Given the description of an element on the screen output the (x, y) to click on. 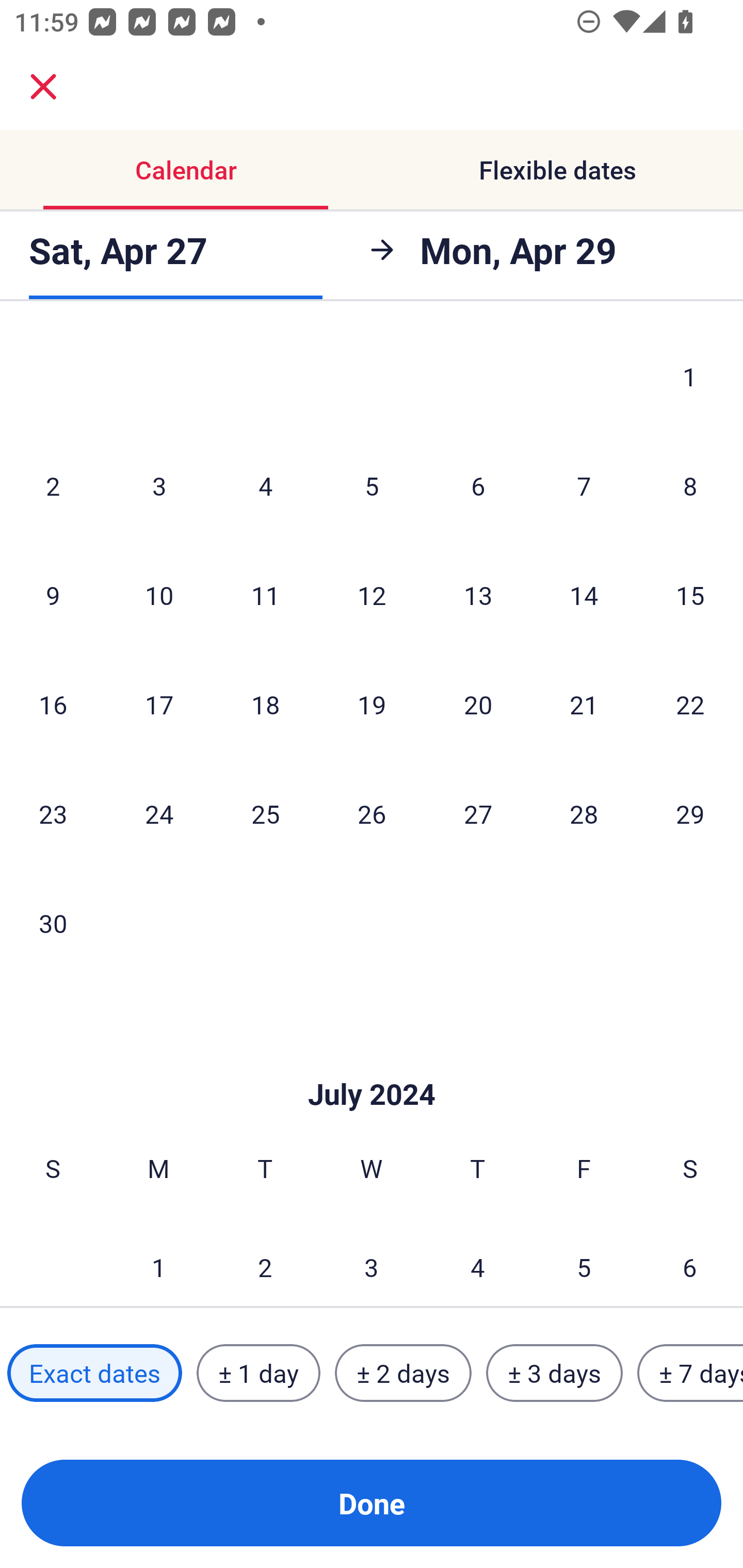
close. (43, 86)
Flexible dates (557, 170)
1 Saturday, June 1, 2024 (689, 379)
2 Sunday, June 2, 2024 (53, 484)
3 Monday, June 3, 2024 (159, 484)
4 Tuesday, June 4, 2024 (265, 484)
5 Wednesday, June 5, 2024 (371, 484)
6 Thursday, June 6, 2024 (477, 484)
7 Friday, June 7, 2024 (584, 484)
8 Saturday, June 8, 2024 (690, 484)
9 Sunday, June 9, 2024 (53, 594)
10 Monday, June 10, 2024 (159, 594)
11 Tuesday, June 11, 2024 (265, 594)
12 Wednesday, June 12, 2024 (371, 594)
13 Thursday, June 13, 2024 (477, 594)
14 Friday, June 14, 2024 (584, 594)
15 Saturday, June 15, 2024 (690, 594)
16 Sunday, June 16, 2024 (53, 703)
17 Monday, June 17, 2024 (159, 703)
18 Tuesday, June 18, 2024 (265, 703)
19 Wednesday, June 19, 2024 (371, 703)
20 Thursday, June 20, 2024 (477, 703)
21 Friday, June 21, 2024 (584, 703)
22 Saturday, June 22, 2024 (690, 703)
23 Sunday, June 23, 2024 (53, 813)
24 Monday, June 24, 2024 (159, 813)
25 Tuesday, June 25, 2024 (265, 813)
26 Wednesday, June 26, 2024 (371, 813)
27 Thursday, June 27, 2024 (477, 813)
28 Friday, June 28, 2024 (584, 813)
29 Saturday, June 29, 2024 (690, 813)
30 Sunday, June 30, 2024 (53, 922)
Skip to Done (371, 1063)
1 Monday, July 1, 2024 (158, 1259)
2 Tuesday, July 2, 2024 (264, 1259)
3 Wednesday, July 3, 2024 (371, 1259)
4 Thursday, July 4, 2024 (477, 1259)
5 Friday, July 5, 2024 (583, 1259)
6 Saturday, July 6, 2024 (689, 1259)
Exact dates (94, 1372)
± 1 day (258, 1372)
± 2 days (403, 1372)
± 3 days (553, 1372)
± 7 days (690, 1372)
Done (371, 1502)
